Given the description of an element on the screen output the (x, y) to click on. 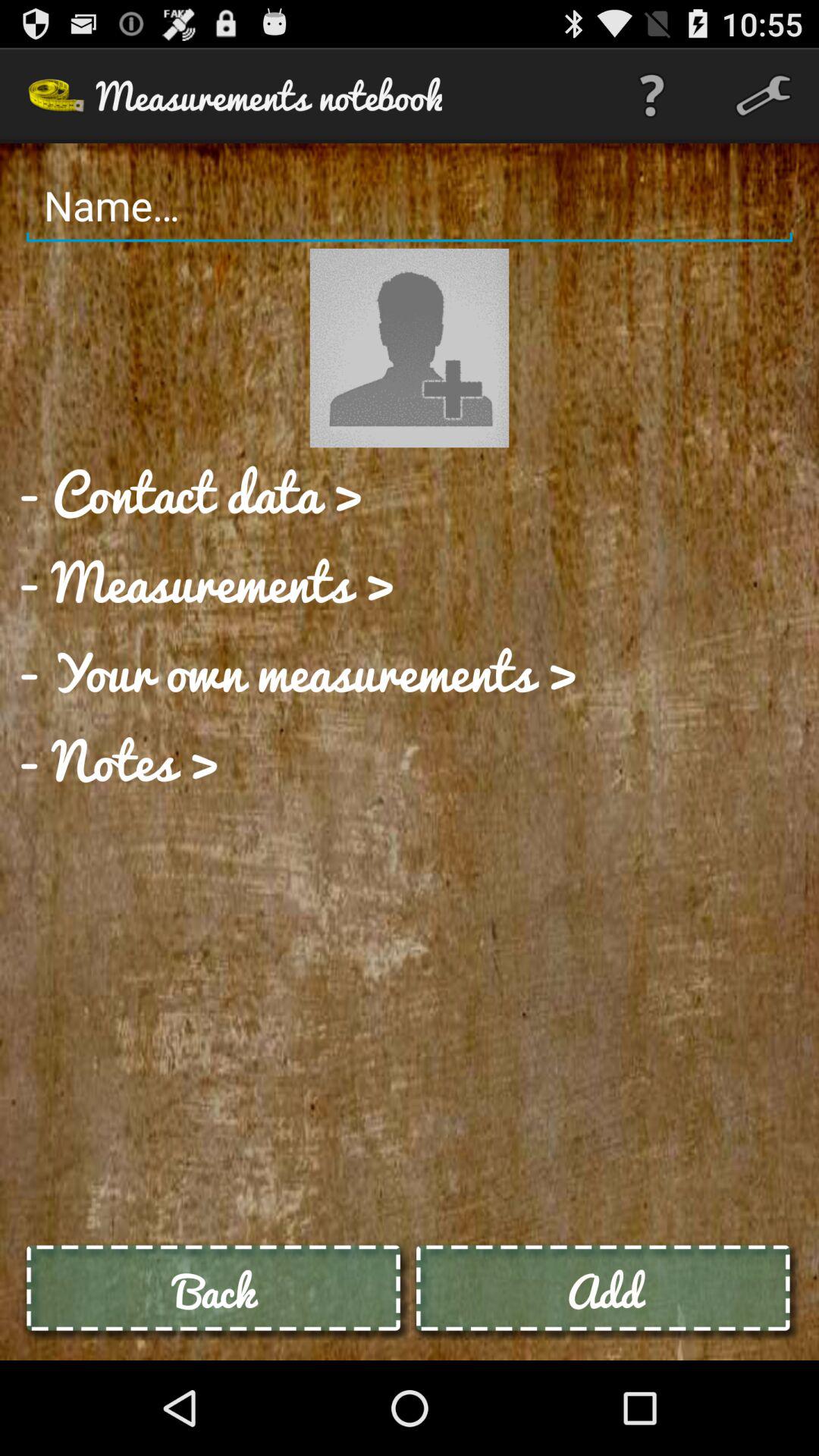
tap icon below the - notes > icon (214, 1290)
